Given the description of an element on the screen output the (x, y) to click on. 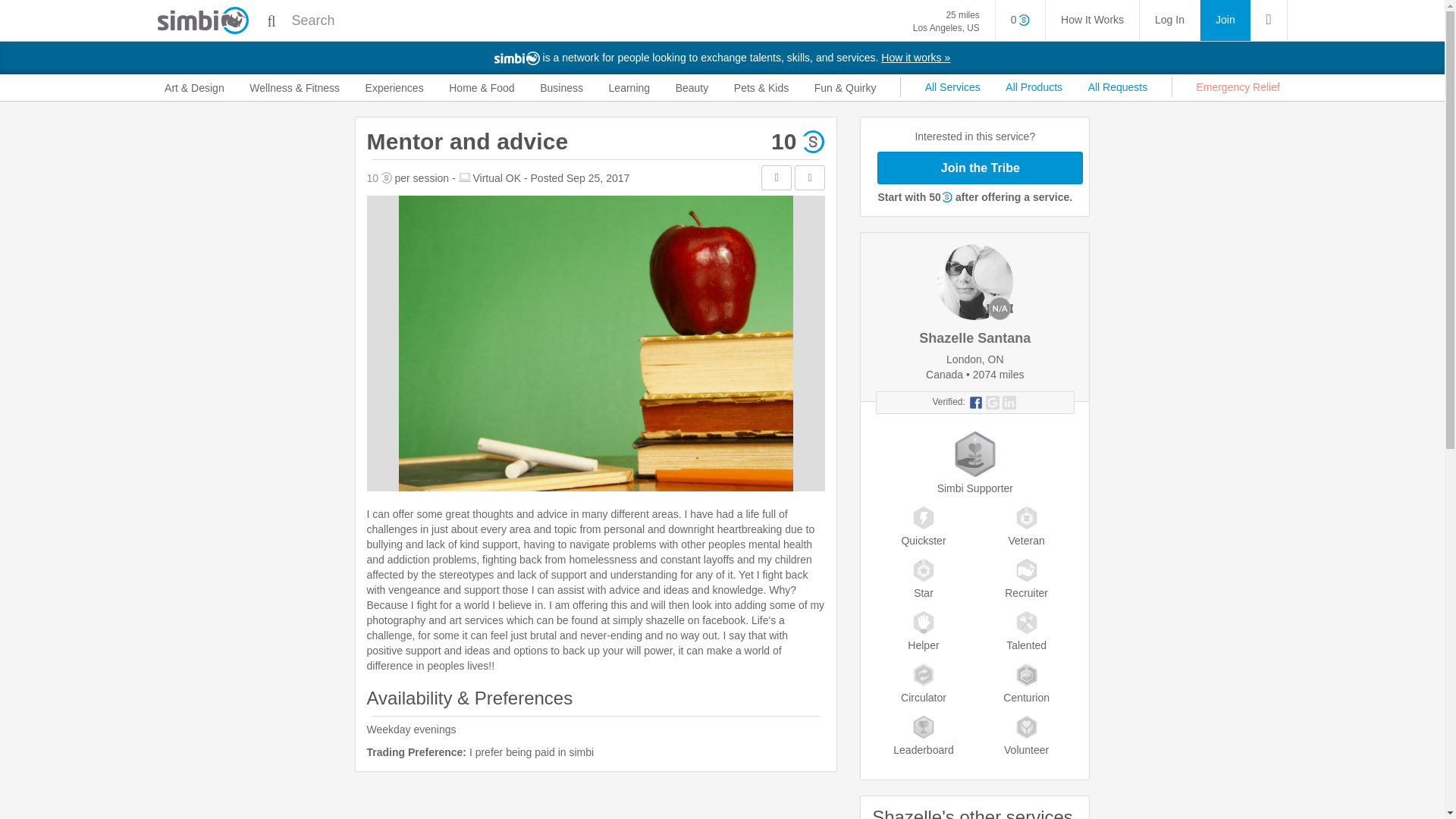
Log In (1169, 20)
Join (1224, 20)
0 (945, 22)
How It Works (1020, 20)
